Given the description of an element on the screen output the (x, y) to click on. 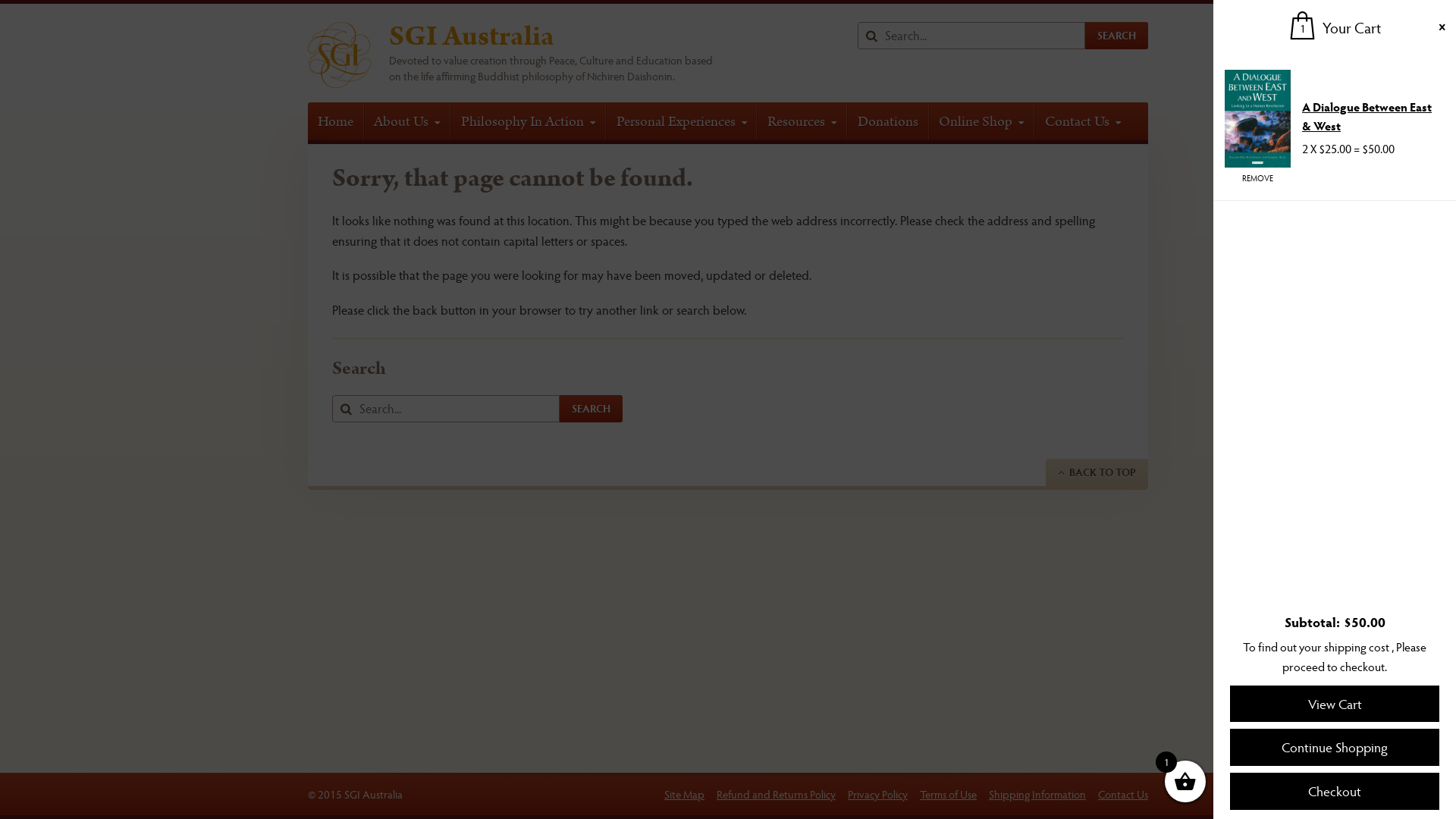
Refund and Returns Policy Element type: text (775, 793)
Shipping Information Element type: text (1036, 793)
  BACK TO TOP Element type: text (1096, 472)
Contact Us Element type: text (1082, 121)
Home Element type: text (335, 121)
Personal Experiences Element type: text (681, 121)
Checkout Element type: text (1334, 791)
Site Map Element type: text (684, 793)
Home Element type: hover (338, 54)
View Cart Element type: text (1334, 704)
Privacy Policy Element type: text (877, 793)
Philosophy In Action Element type: text (527, 121)
Terms of Use Element type: text (947, 793)
Search Element type: text (1116, 35)
Resources Element type: text (801, 121)
Online Shop Element type: text (981, 121)
Donations Element type: text (887, 121)
Continue Shopping Element type: text (1334, 747)
Contact Us Element type: text (1123, 793)
A Dialogue Between East & West Element type: text (1366, 116)
JUMP TO MAIN CONTENT Element type: text (12, 9)
About Us Element type: text (407, 121)
Search Element type: text (590, 408)
